Given the description of an element on the screen output the (x, y) to click on. 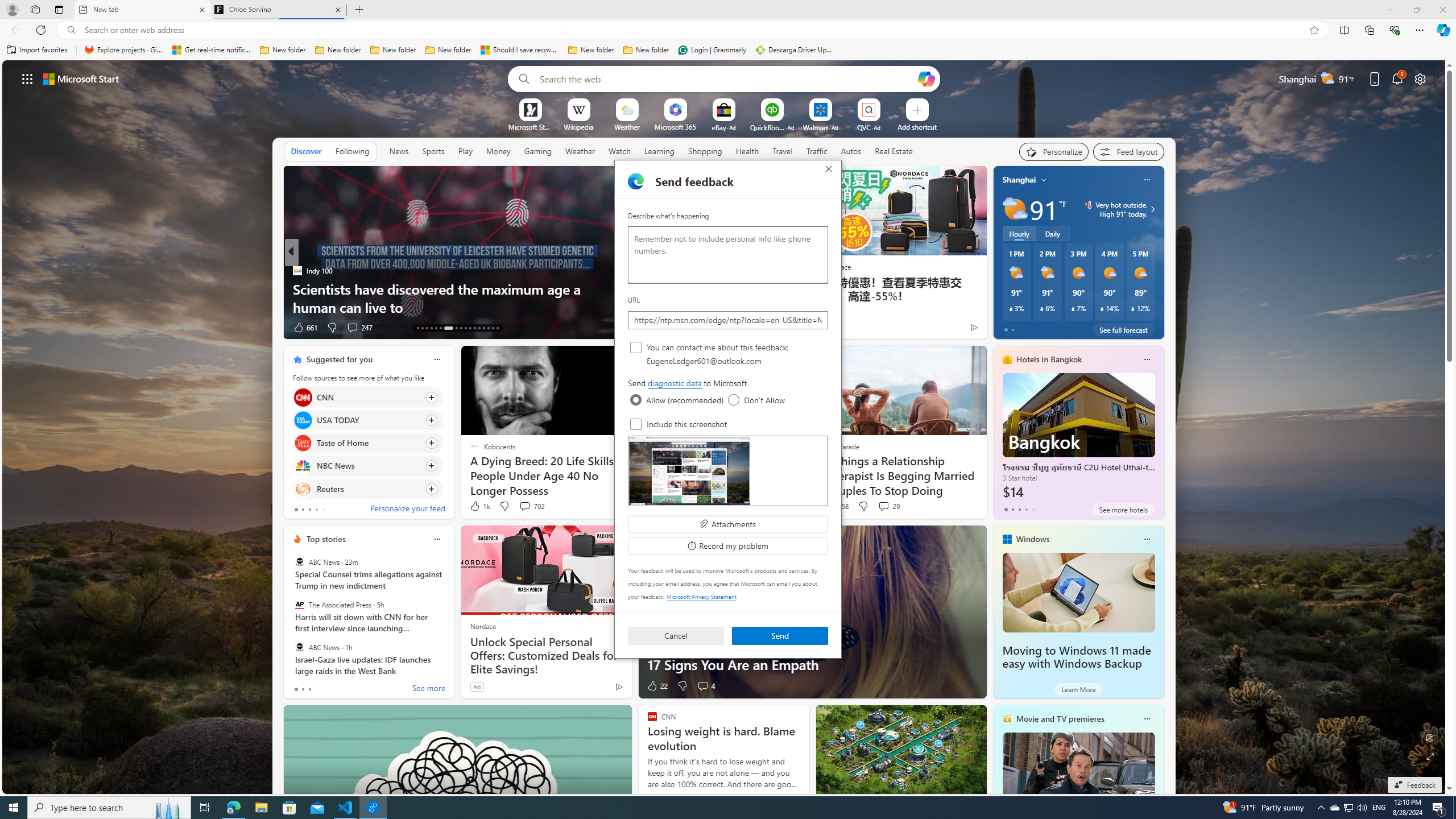
Health (746, 151)
Task View (204, 807)
View comments 702 Comment (523, 505)
Moving to Windows 11 made easy with Windows Backup (1076, 657)
Running applications (706, 807)
Personalize your feed" (1054, 151)
AutomationID: tab-24 (474, 328)
